Given the description of an element on the screen output the (x, y) to click on. 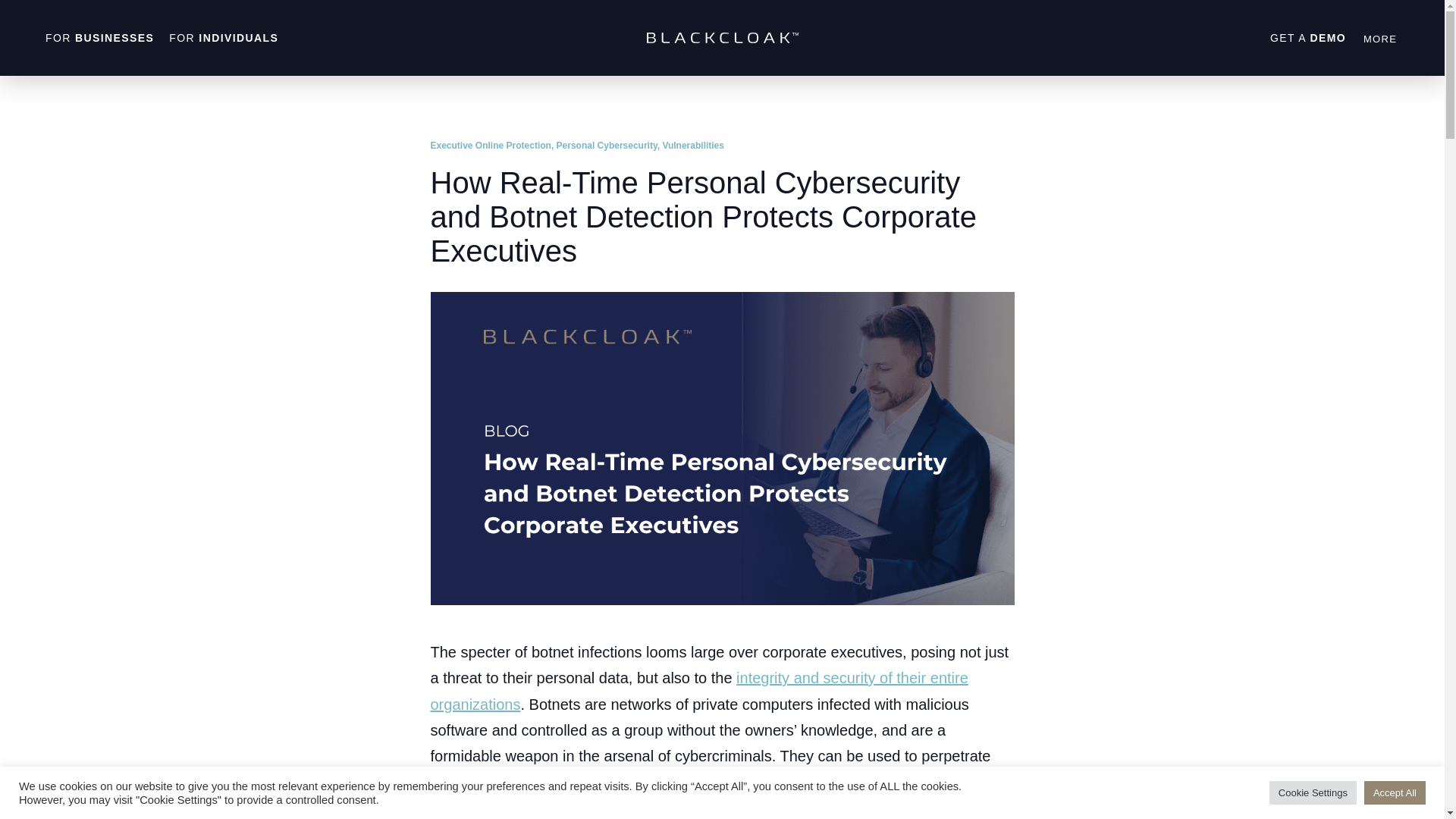
FOR INDIVIDUALS (223, 37)
FOR BUSINESSES (99, 37)
GET A DEMO (1307, 37)
